Given the description of an element on the screen output the (x, y) to click on. 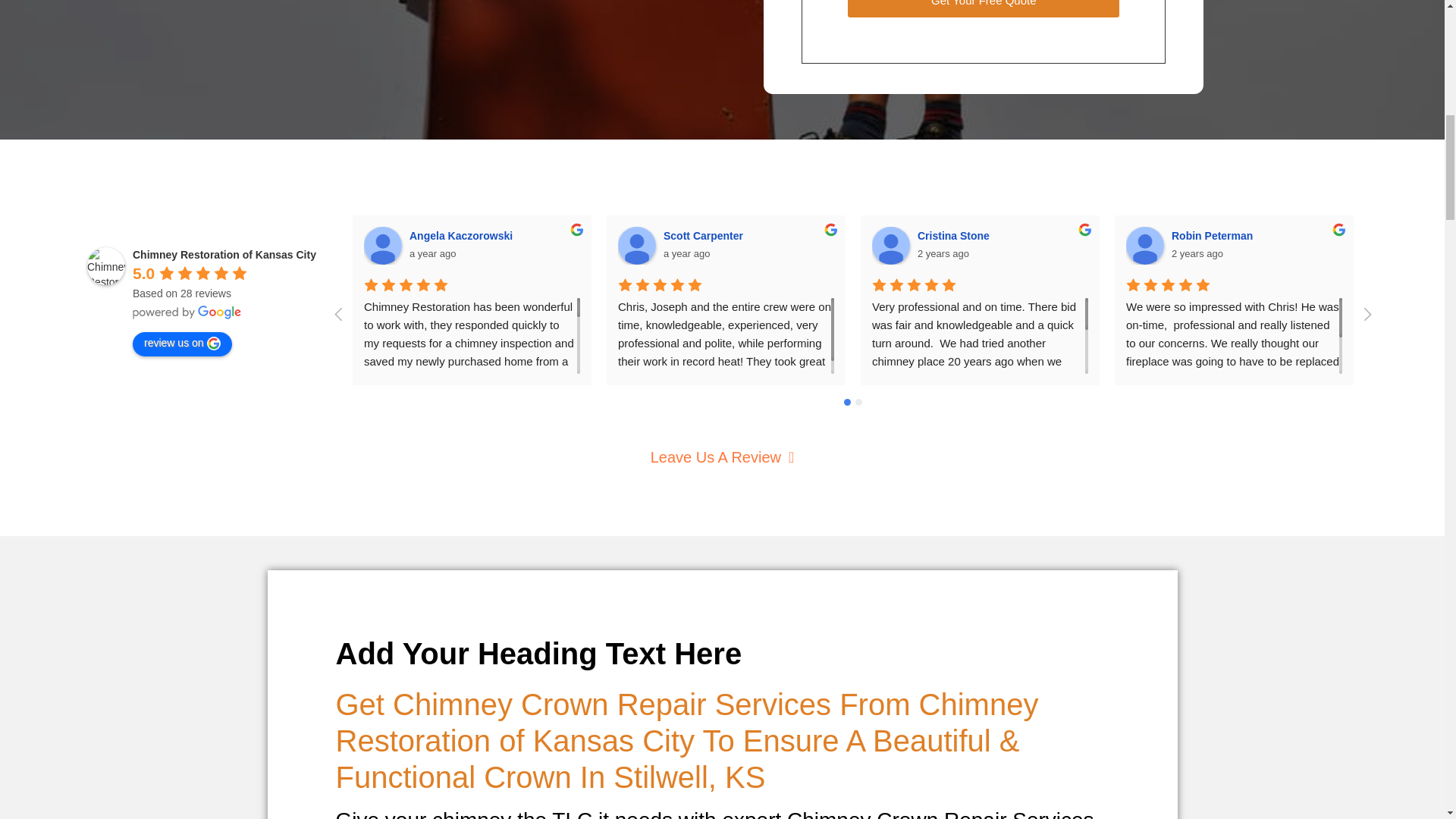
Cristina Stone (891, 245)
Scott Carpenter (636, 245)
Chimney Restoration of Kansas City (106, 266)
powered by Google (186, 312)
Tiffany Sykes (1399, 245)
Angela Kaczorowski (382, 245)
Robin Peterman (1144, 245)
